Given the description of an element on the screen output the (x, y) to click on. 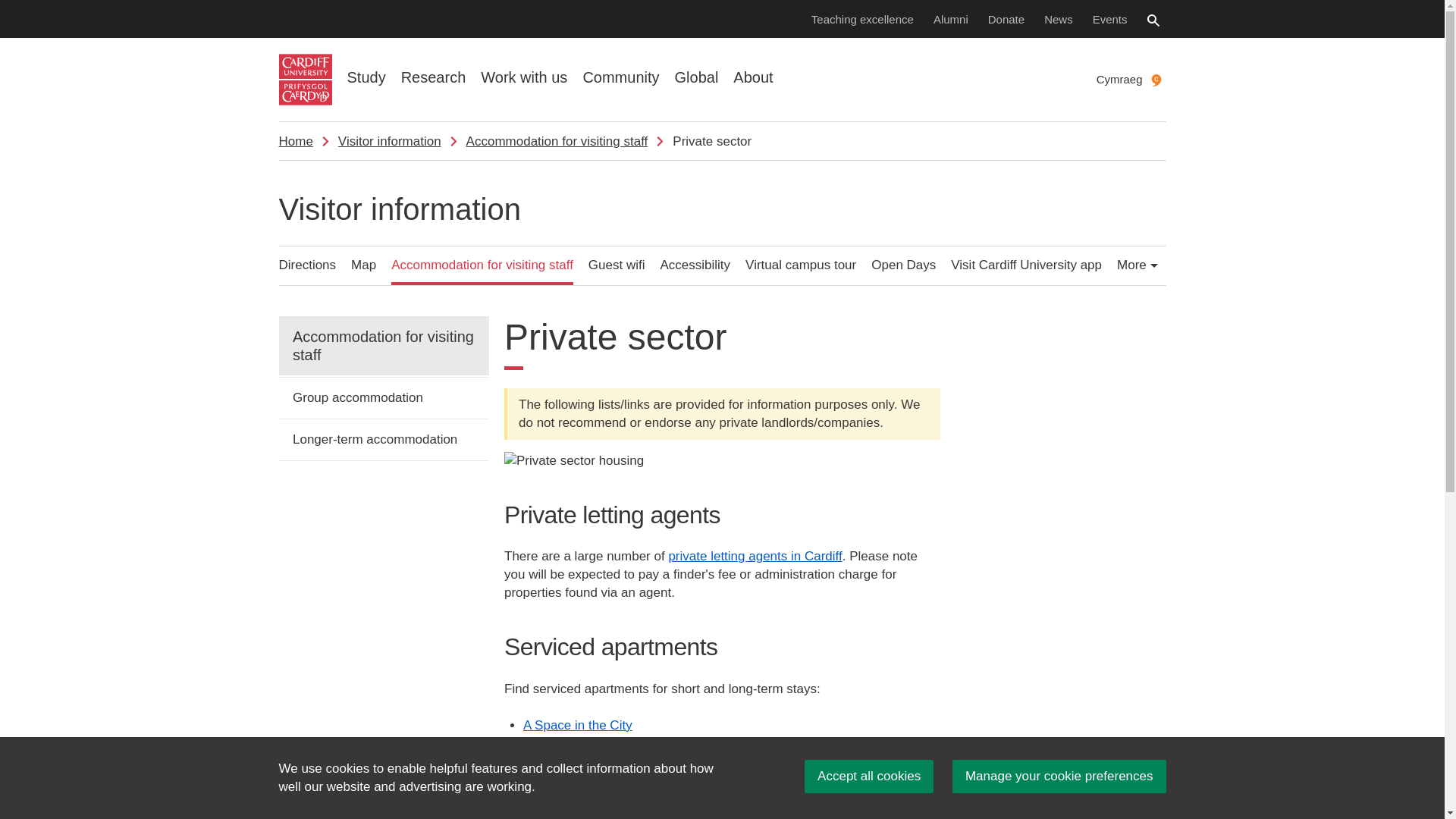
Accept all cookies (869, 776)
Search (1152, 20)
News (1058, 19)
Cardiff University logo (305, 79)
Manage your cookie preferences (1059, 776)
Cardiff University logo (305, 79)
Donate (1005, 19)
cymraeg (1155, 80)
Alumni (951, 19)
Events (1109, 19)
Teaching excellence (862, 19)
